Given the description of an element on the screen output the (x, y) to click on. 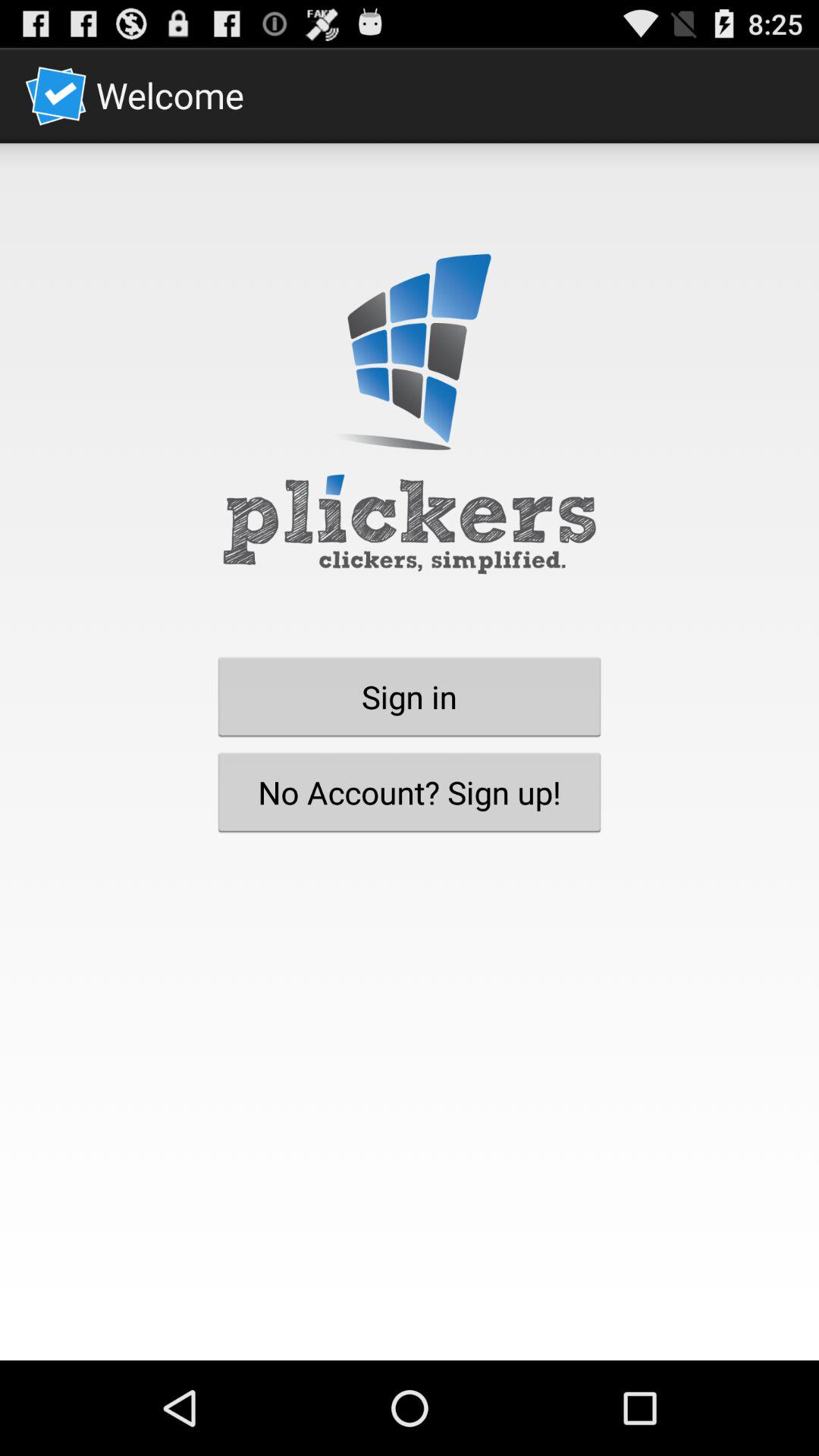
click sign in item (409, 696)
